Given the description of an element on the screen output the (x, y) to click on. 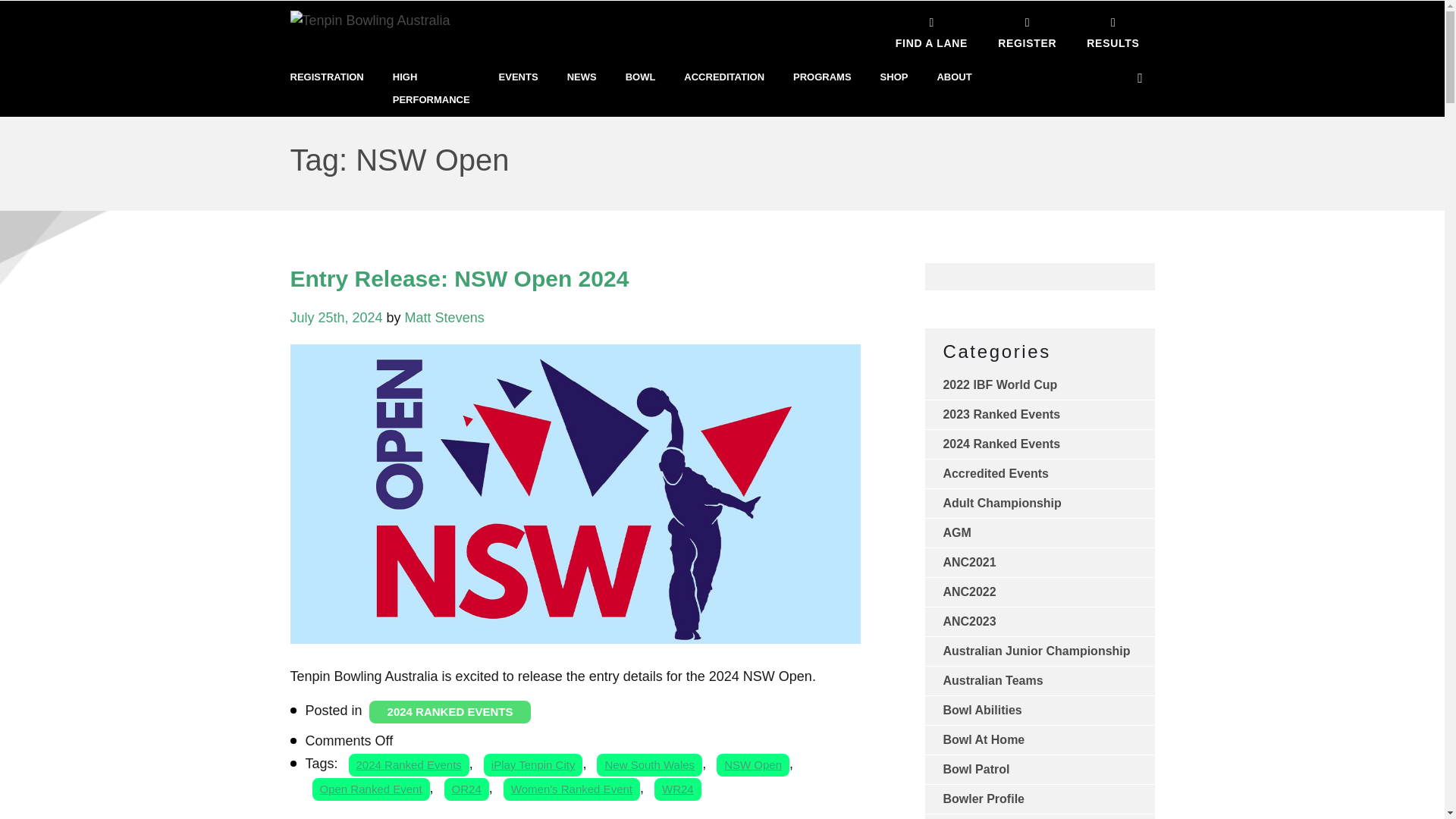
HIGH PERFORMANCE (431, 88)
RESULTS (1112, 30)
EVENTS (518, 77)
FIND A LANE (931, 30)
REGISTRATION (325, 77)
BOWL (641, 77)
REGISTER (1026, 30)
